Given the description of an element on the screen output the (x, y) to click on. 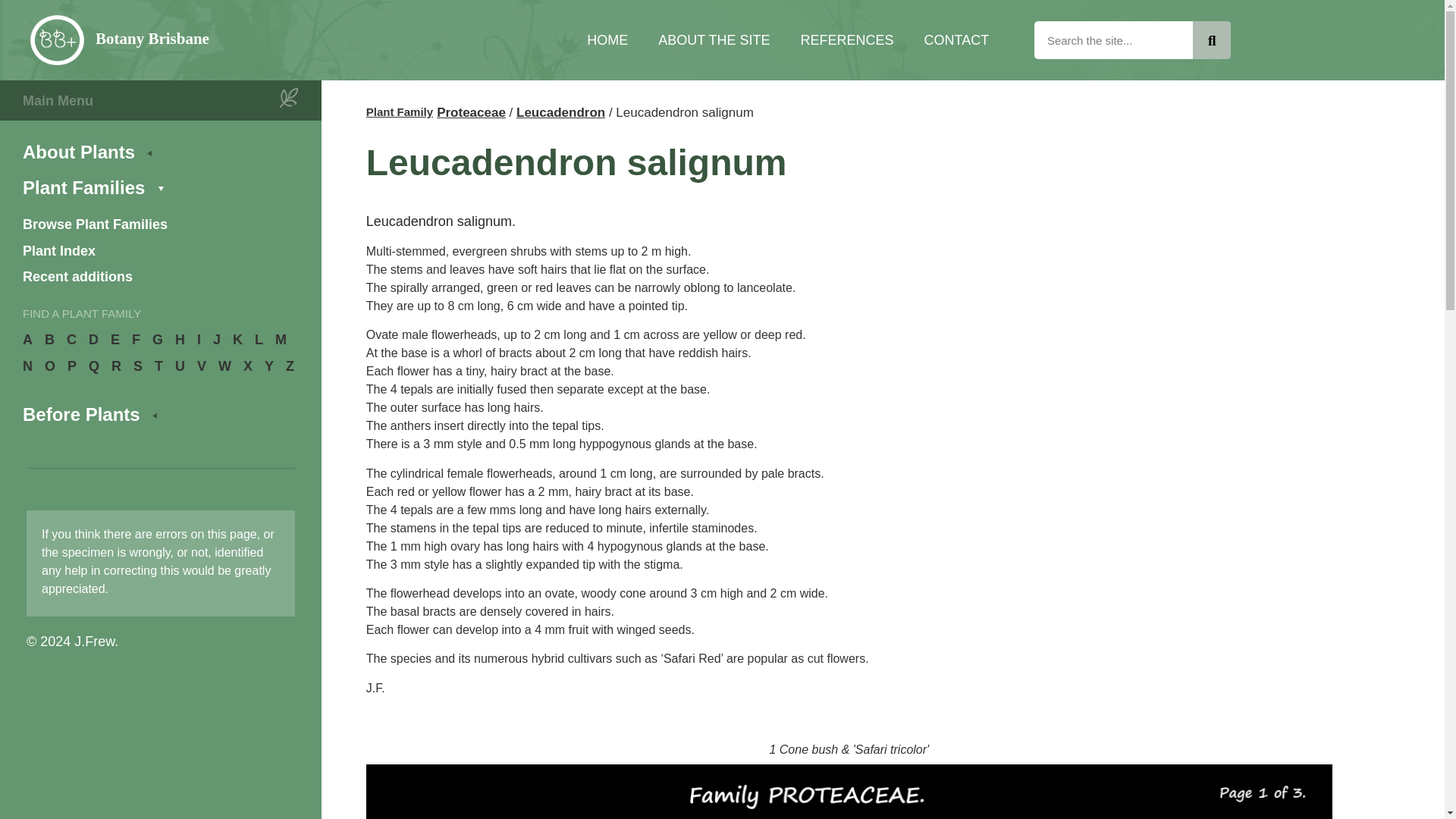
REFERENCES (847, 39)
HOME (607, 39)
Recent additions (159, 276)
ABOUT THE SITE (713, 39)
Browse Plant Families (159, 224)
CONTACT (956, 39)
Plant Index (159, 250)
